Given the description of an element on the screen output the (x, y) to click on. 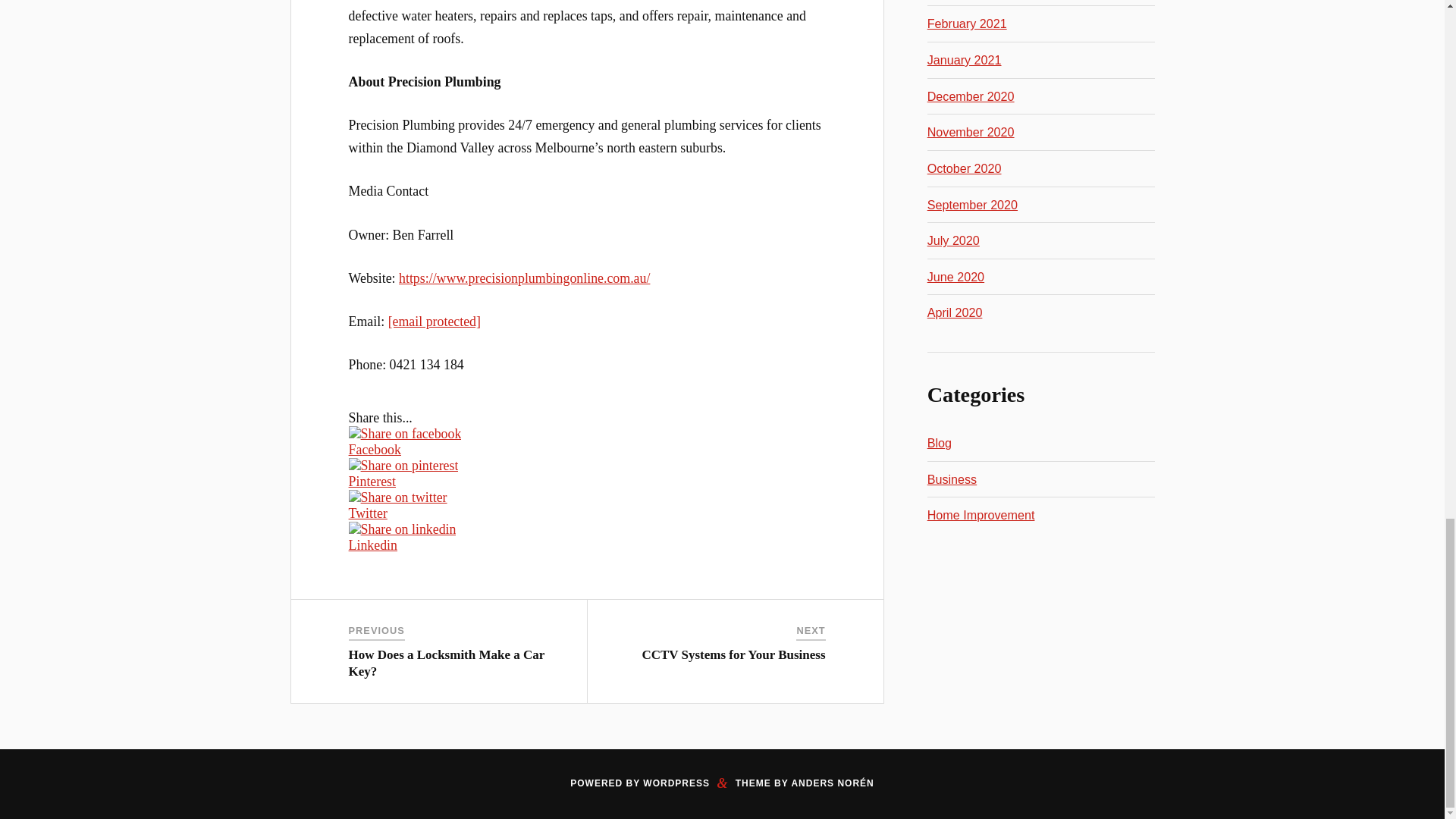
Facebook (587, 449)
Pinterest (587, 481)
Pinterest (587, 481)
Linkedin (587, 537)
Linkedin (587, 545)
CCTV Systems for Your Business (733, 654)
linkedin (403, 529)
facebook (405, 433)
pinterest (403, 465)
Twitter (587, 513)
How Does a Locksmith Make a Car Key? (446, 662)
Facebook (587, 449)
Twitter (587, 513)
twitter (397, 497)
